Given the description of an element on the screen output the (x, y) to click on. 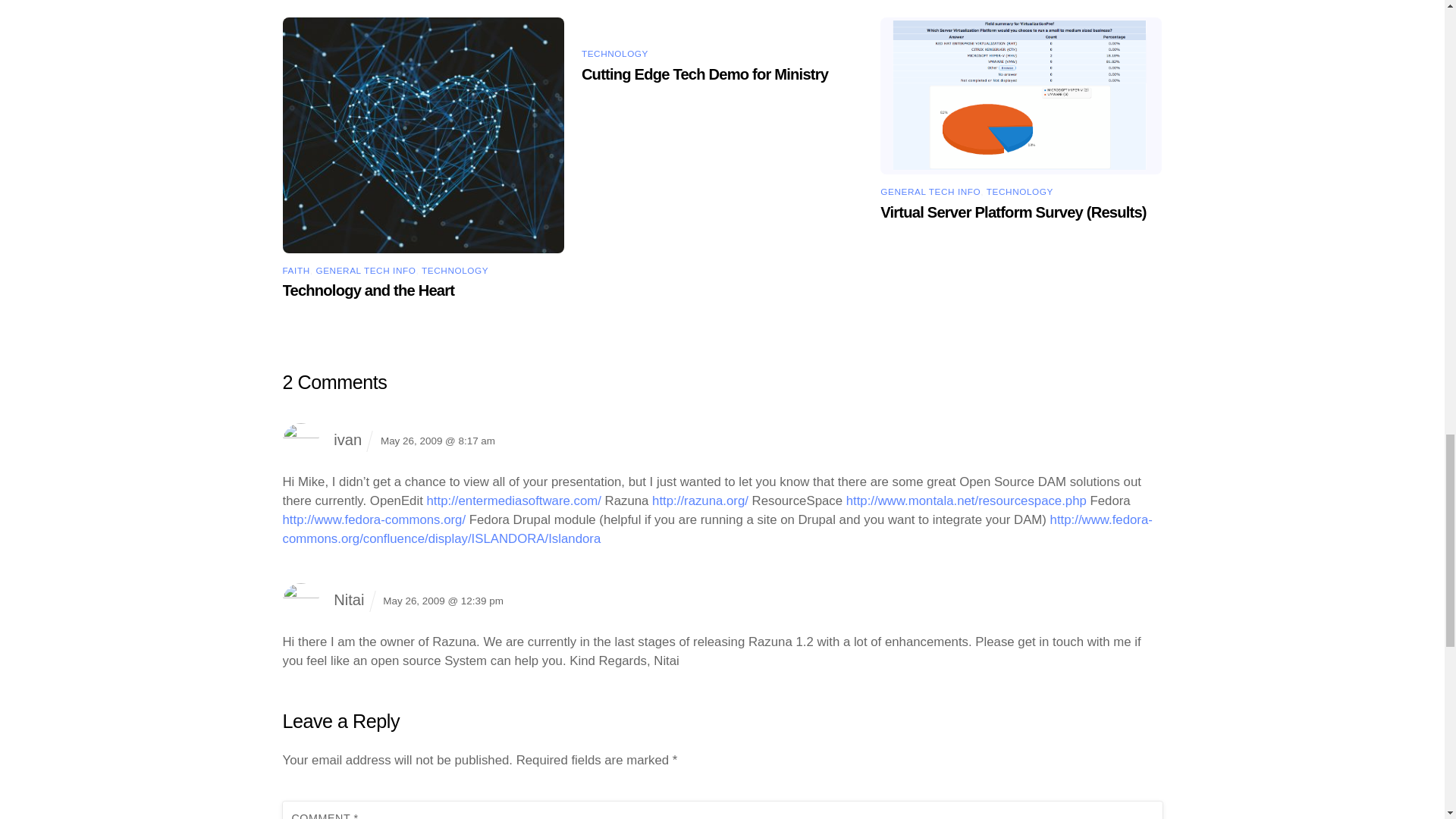
GENERAL TECH INFO (929, 191)
TECHNOLOGY (454, 270)
FAITH (295, 270)
Technology and the Heart (368, 289)
Cutting Edge Tech Demo for Ministry (704, 74)
Abstract plexus in heart Shape molecule or Atom. (422, 135)
TECHNOLOGY (613, 53)
TECHNOLOGY (1019, 191)
GENERAL TECH INFO (364, 270)
